Given the description of an element on the screen output the (x, y) to click on. 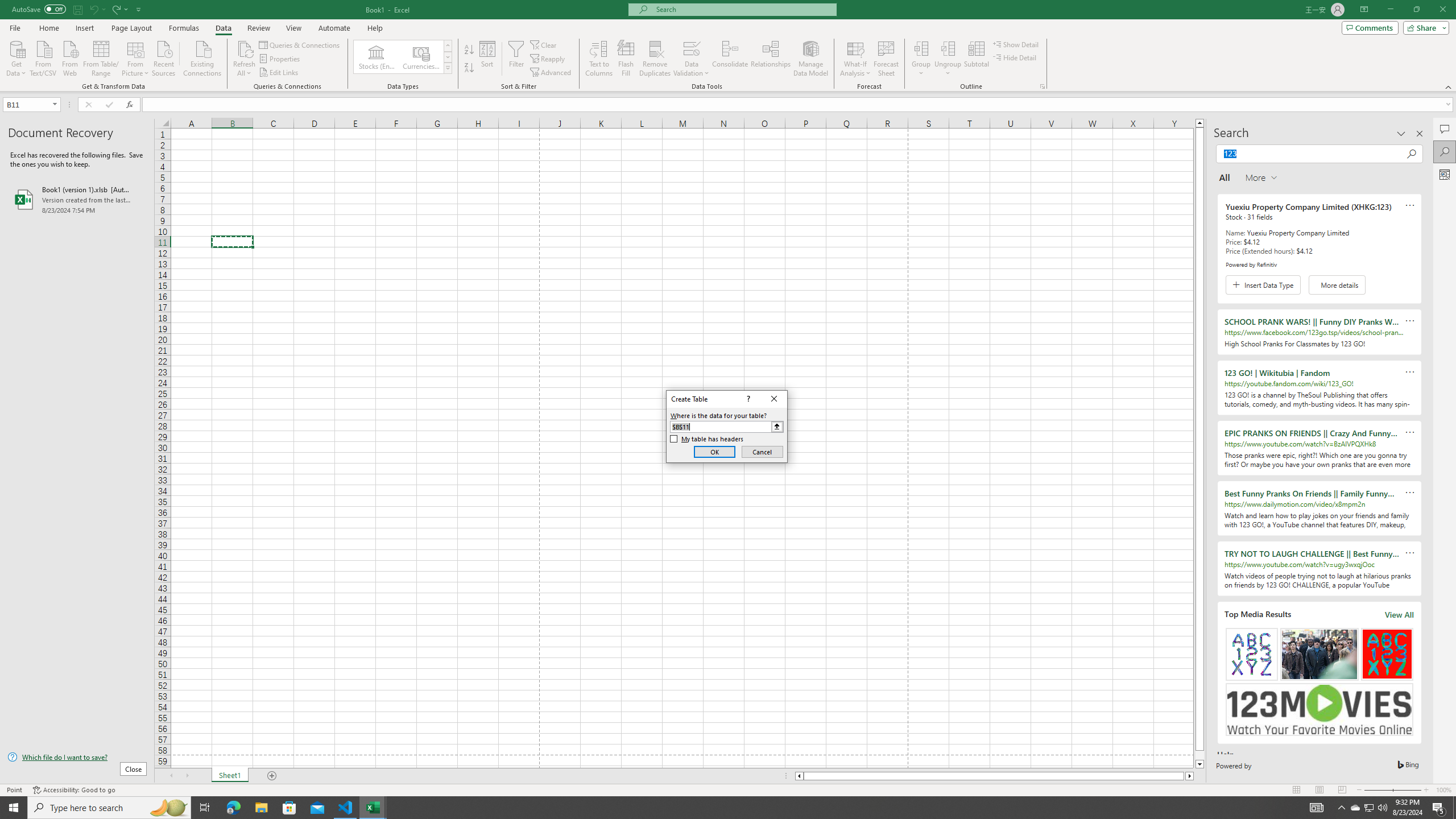
Microsoft Edge (233, 807)
Refresh All (244, 58)
Relationships (770, 58)
Ungroup... (947, 58)
Hide Detail (1014, 56)
Refresh All (1368, 807)
Page down (244, 48)
Formula Bar (1199, 755)
Class: MsoCommandBar (799, 104)
User Promoted Notification Area (728, 45)
Start (1368, 807)
